Given the description of an element on the screen output the (x, y) to click on. 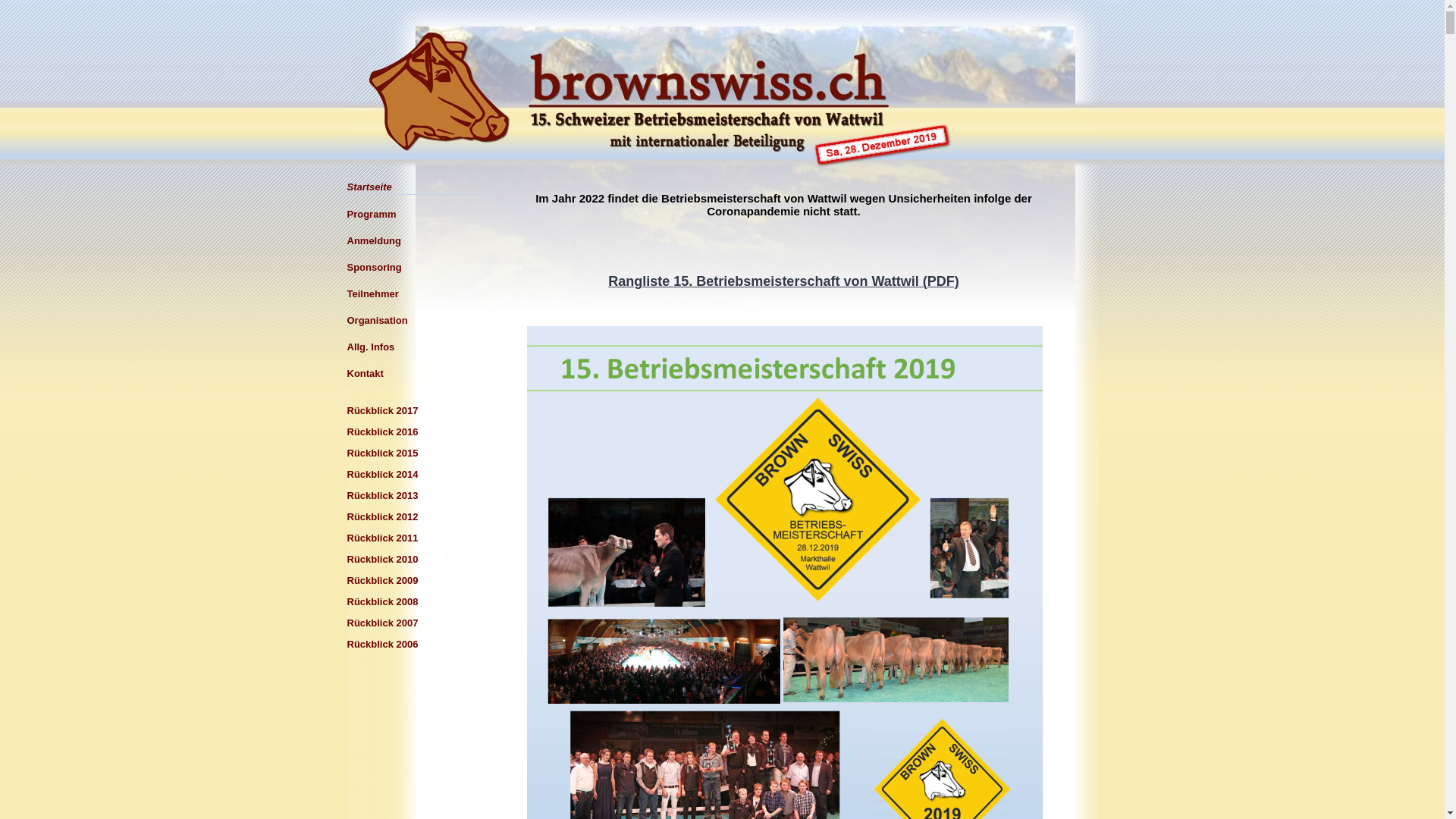
Anmeldung Element type: text (416, 240)
Startseite Element type: text (416, 186)
Programm Element type: text (416, 214)
Teilnehmer Element type: text (416, 293)
Allg. Infos Element type: text (416, 346)
Rangliste 15. Betriebsmeisterschaft von Wattwil (PDF) Element type: text (783, 282)
Kontakt Element type: text (416, 373)
Sponsoring Element type: text (416, 267)
Organisation Element type: text (416, 320)
